Given the description of an element on the screen output the (x, y) to click on. 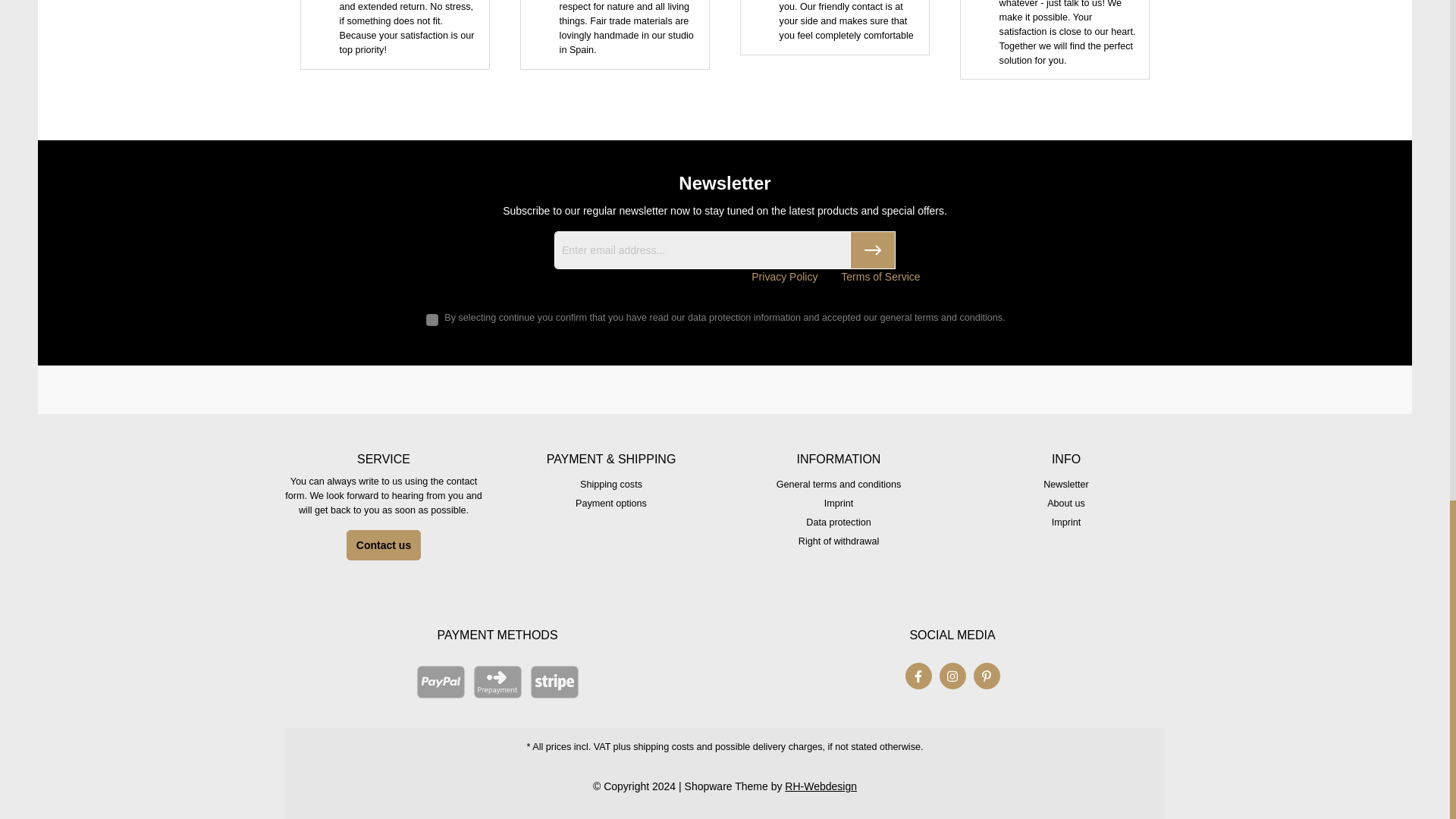
on (432, 319)
